Given the description of an element on the screen output the (x, y) to click on. 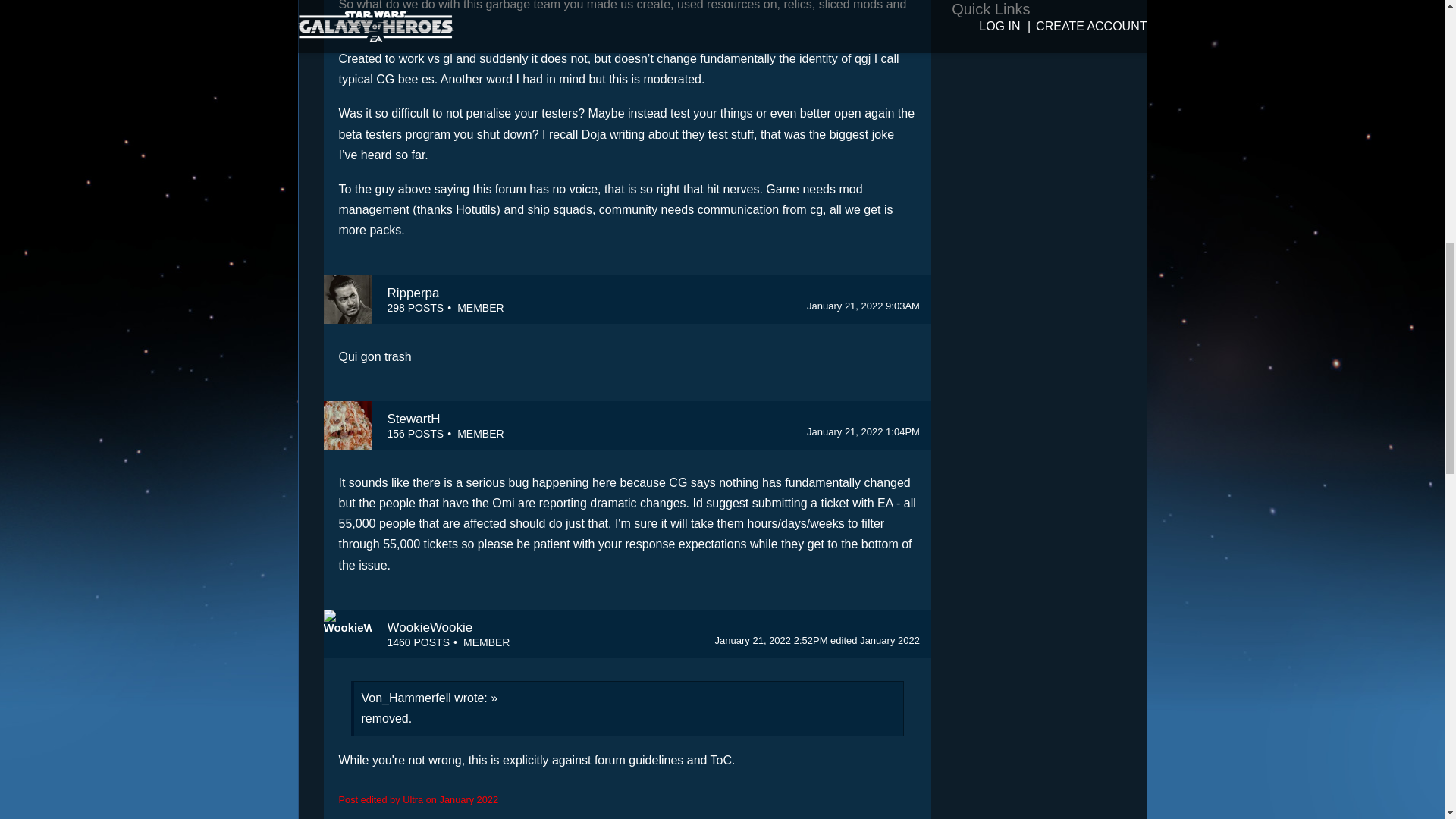
Ripperpa (347, 299)
January 21, 2022 9:03AM (863, 306)
StewartH (347, 425)
Level 1 (486, 642)
Edited January 21, 2022 5:49PM by Ultra. (874, 640)
StewartH (413, 418)
Ripperpa (413, 292)
Level 1 (480, 433)
Level 1 (480, 307)
WookieWookie (429, 626)
January 21, 2022 1:04PM (863, 431)
